Given the description of an element on the screen output the (x, y) to click on. 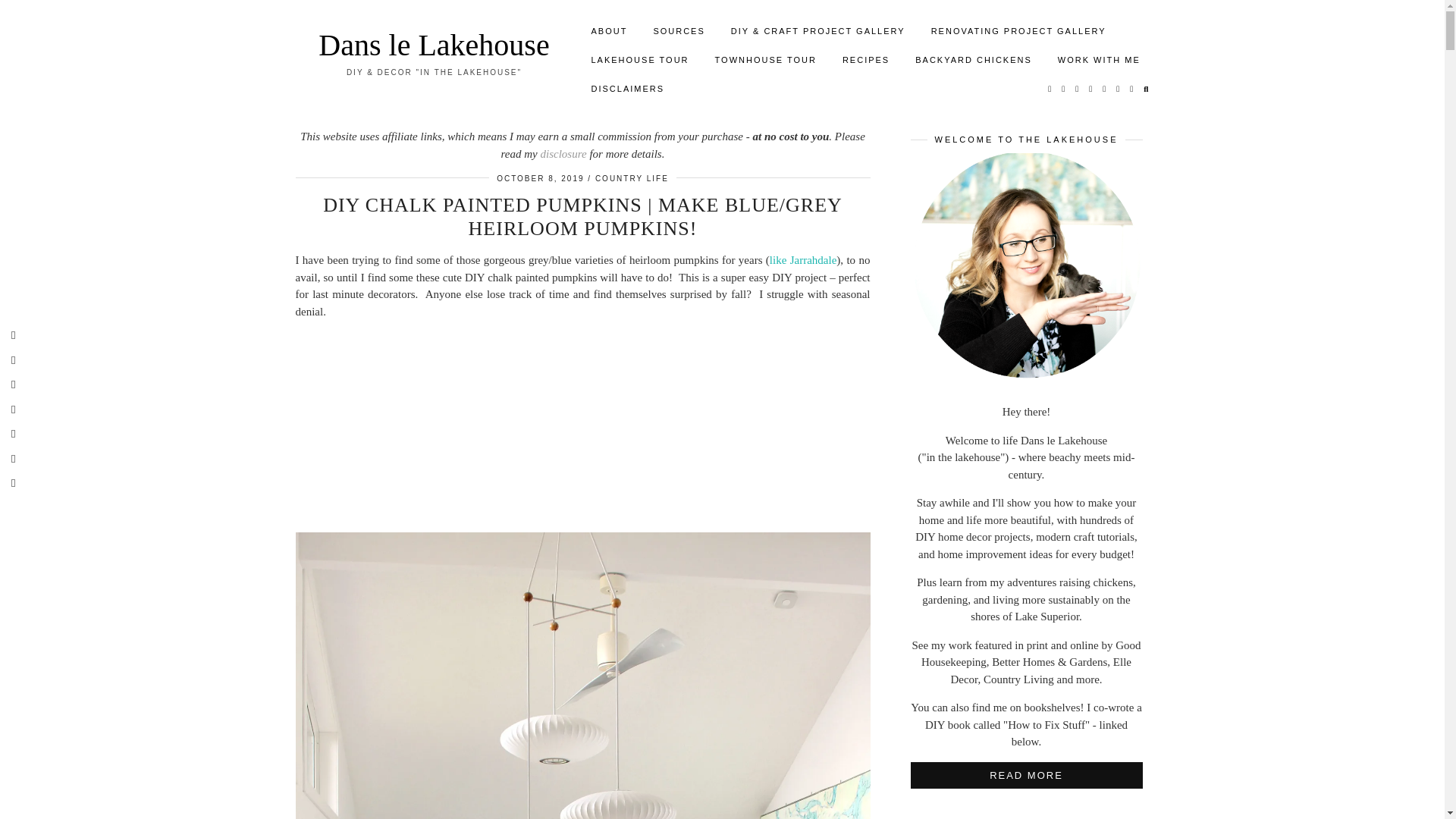
ABOUT (609, 30)
Dans le Lakehouse (433, 44)
Dans le Lakehouse (433, 44)
